Given the description of an element on the screen output the (x, y) to click on. 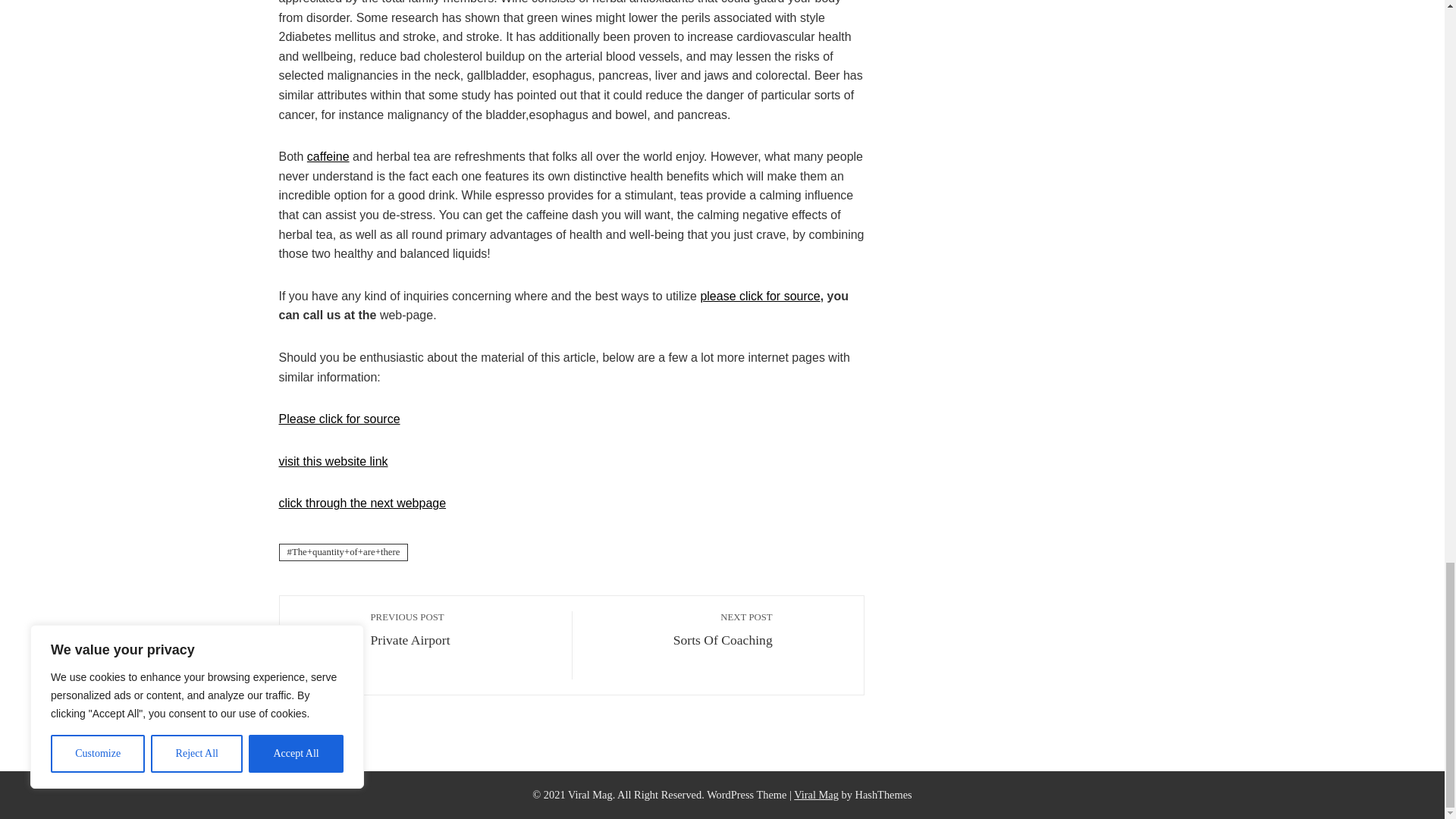
Download Viral News (815, 794)
caffeine (680, 628)
Please click for source (328, 155)
please click for source (339, 418)
visit this website link (462, 628)
click through the next webpage (759, 295)
